Given the description of an element on the screen output the (x, y) to click on. 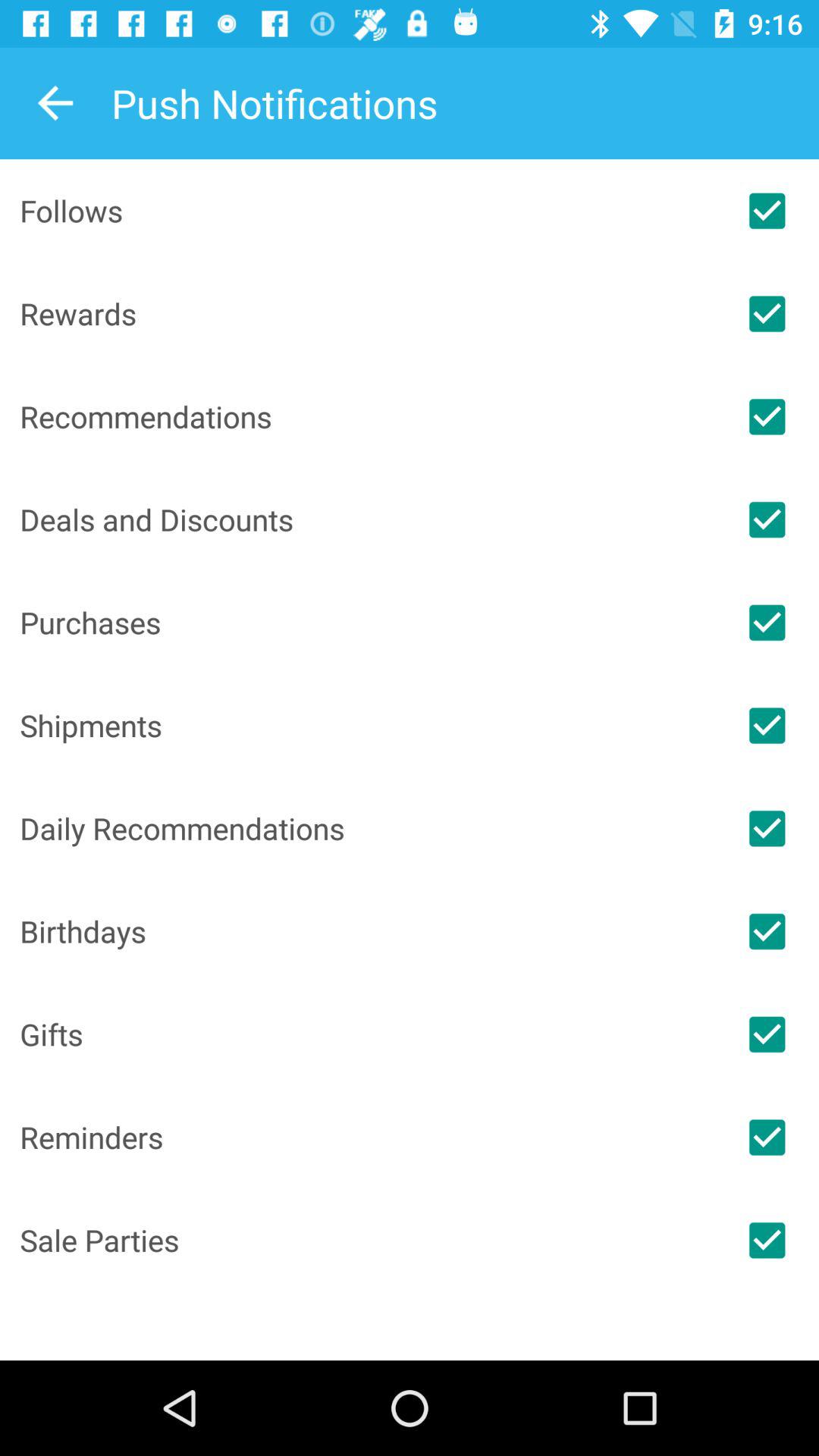
match deals or discounts in push notifications (767, 519)
